Given the description of an element on the screen output the (x, y) to click on. 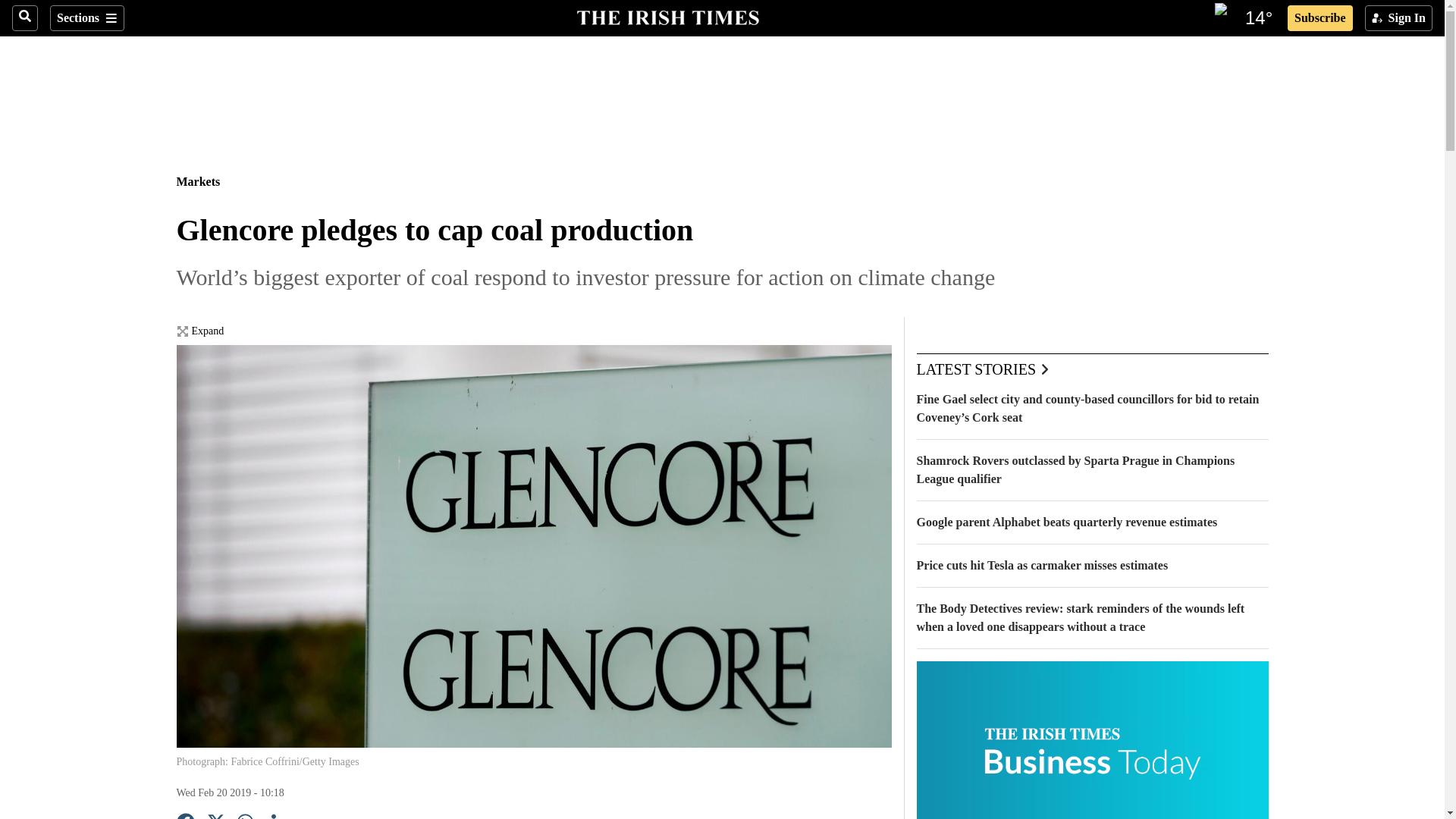
WhatsApp (244, 816)
Sections (86, 17)
Facebook (184, 816)
X (215, 816)
Subscribe (1319, 17)
The Irish Times (667, 16)
Sign In (1398, 17)
